Given the description of an element on the screen output the (x, y) to click on. 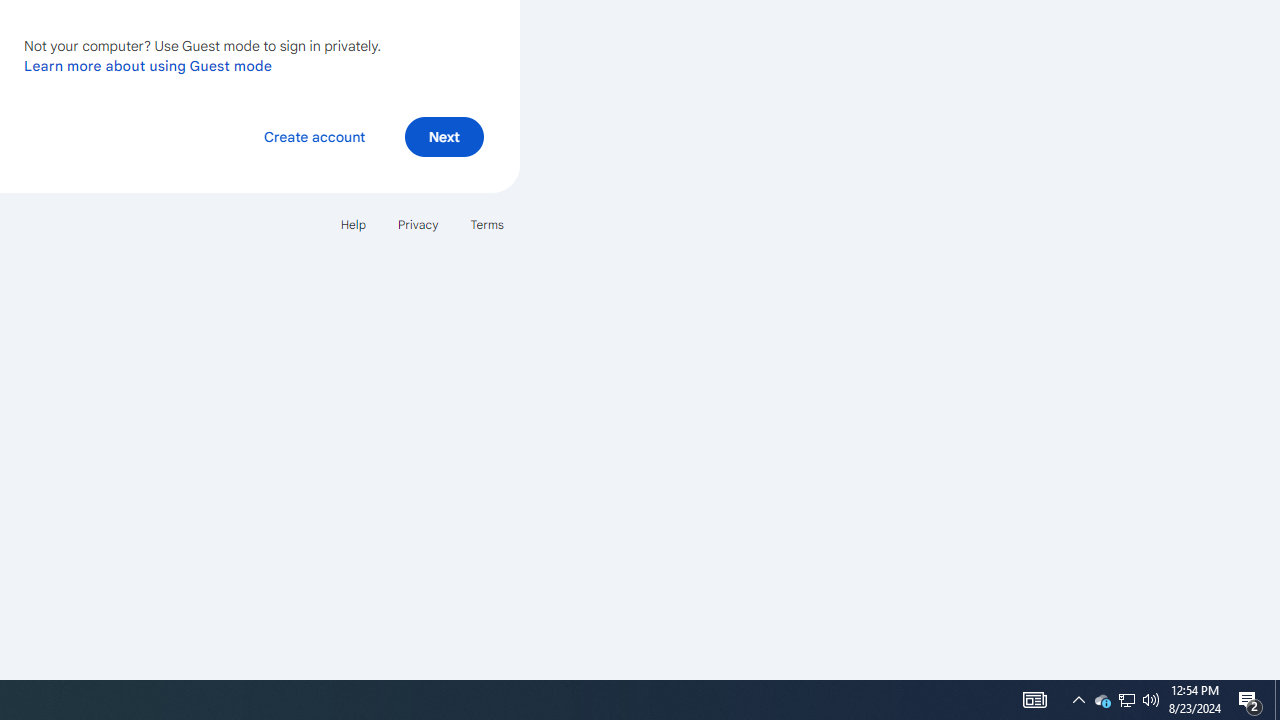
Create account (314, 135)
Learn more about using Guest mode (148, 65)
Next (443, 135)
